Given the description of an element on the screen output the (x, y) to click on. 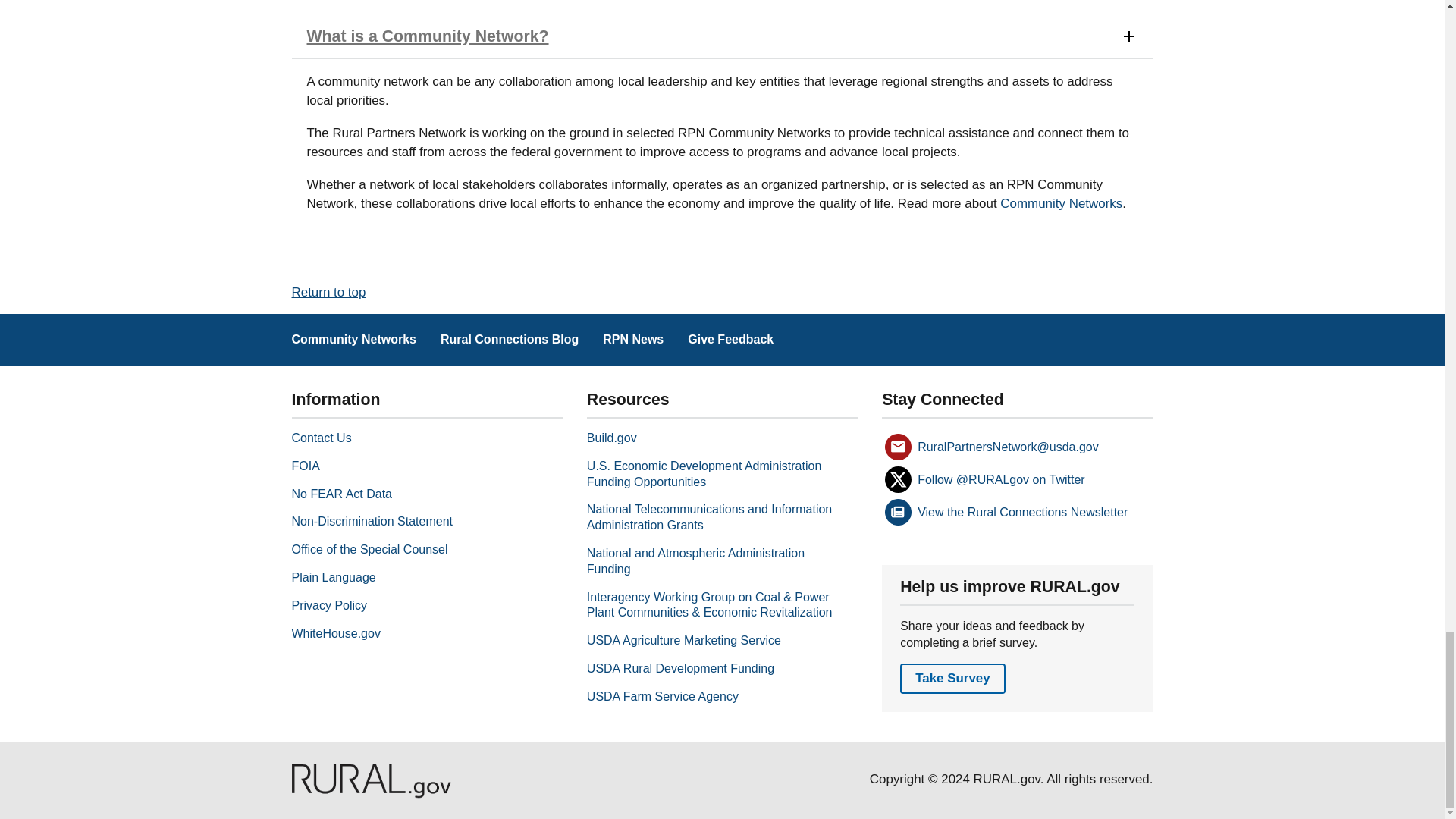
Return to top (328, 292)
Community Networks (1061, 203)
What is a Community Network? (722, 36)
Home (370, 794)
